Given the description of an element on the screen output the (x, y) to click on. 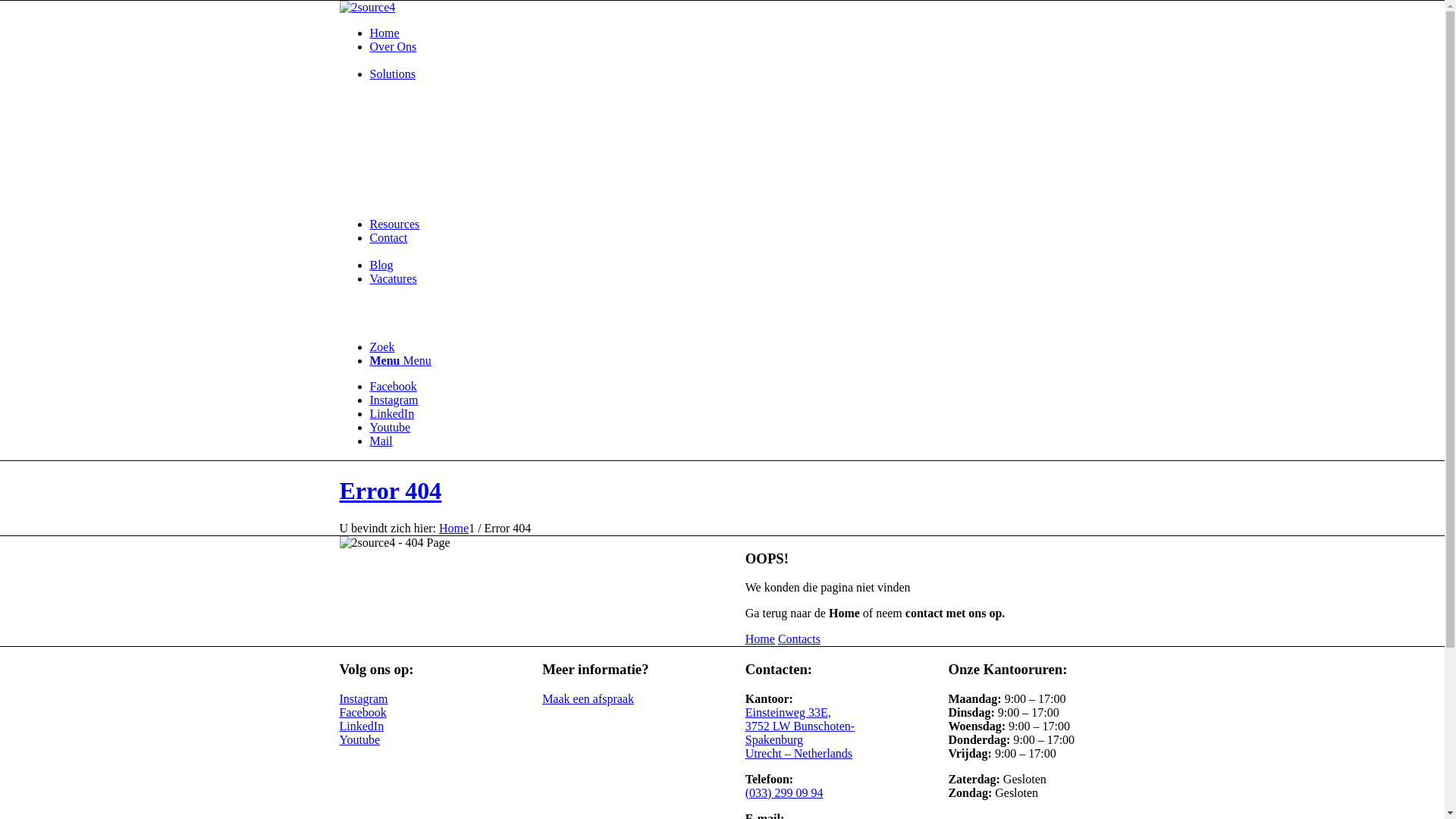
Contact Element type: text (388, 237)
LinkedIn Element type: text (361, 725)
2source4 - 404 Page Element type: hover (394, 542)
Facebook Element type: text (362, 712)
(033) 299 09 94 Element type: text (784, 792)
Mail Element type: text (381, 440)
Instagram Element type: text (394, 399)
Instagram Element type: text (363, 698)
Over Ons Element type: text (393, 46)
Resources Element type: text (395, 223)
LinkedIn Element type: text (392, 413)
3752 LW Bunschoten-Spakenburg Element type: text (799, 732)
Home Element type: text (760, 638)
Vacatures Element type: text (393, 278)
Error 404 Element type: text (390, 490)
Zoek Element type: text (382, 346)
Home Element type: text (384, 32)
Menu Menu Element type: text (400, 360)
Contacts Element type: text (799, 638)
Youtube Element type: text (359, 739)
Facebook Element type: text (393, 385)
Maak een afspraak Element type: text (587, 698)
Einsteinweg 33E, Element type: text (788, 712)
Blog Element type: text (381, 264)
Youtube Element type: text (390, 426)
Home Element type: text (453, 527)
Solutions Element type: text (392, 73)
